Given the description of an element on the screen output the (x, y) to click on. 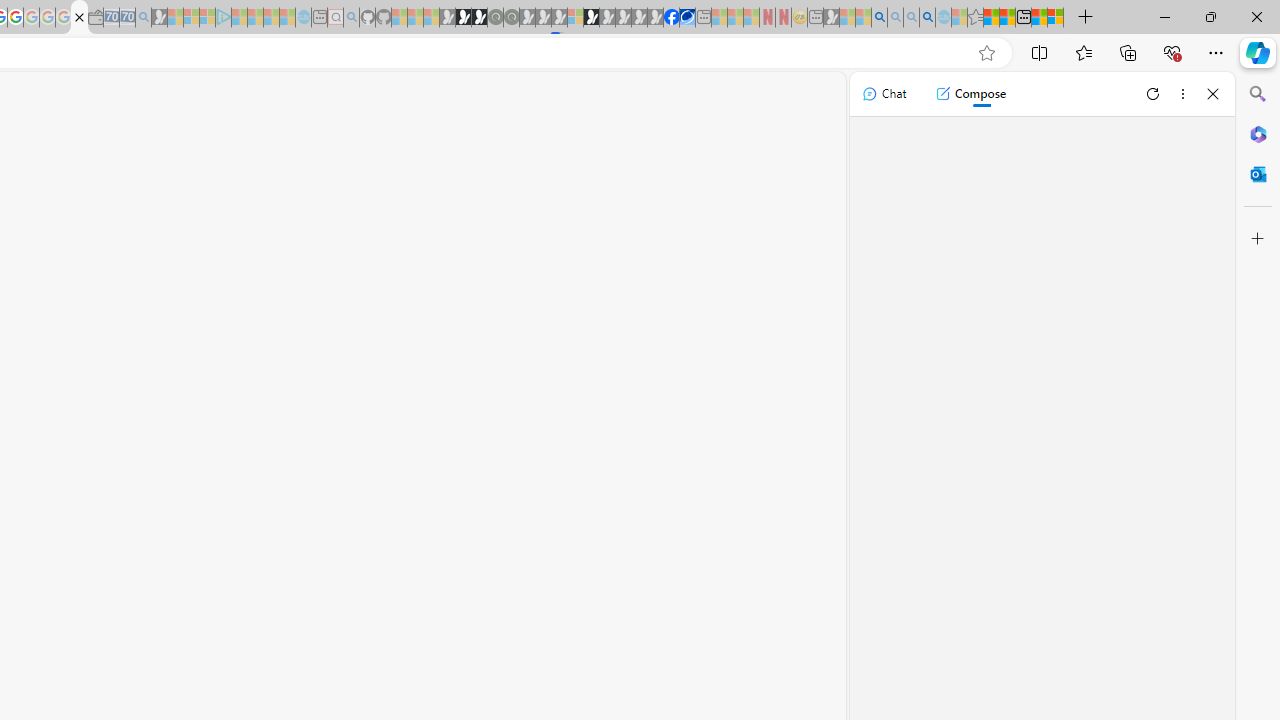
Google Chrome Internet Browser Download - Search Images (927, 17)
Aberdeen, Hong Kong SAR weather forecast | Microsoft Weather (1007, 17)
Bing AI - Search (879, 17)
